Given the description of an element on the screen output the (x, y) to click on. 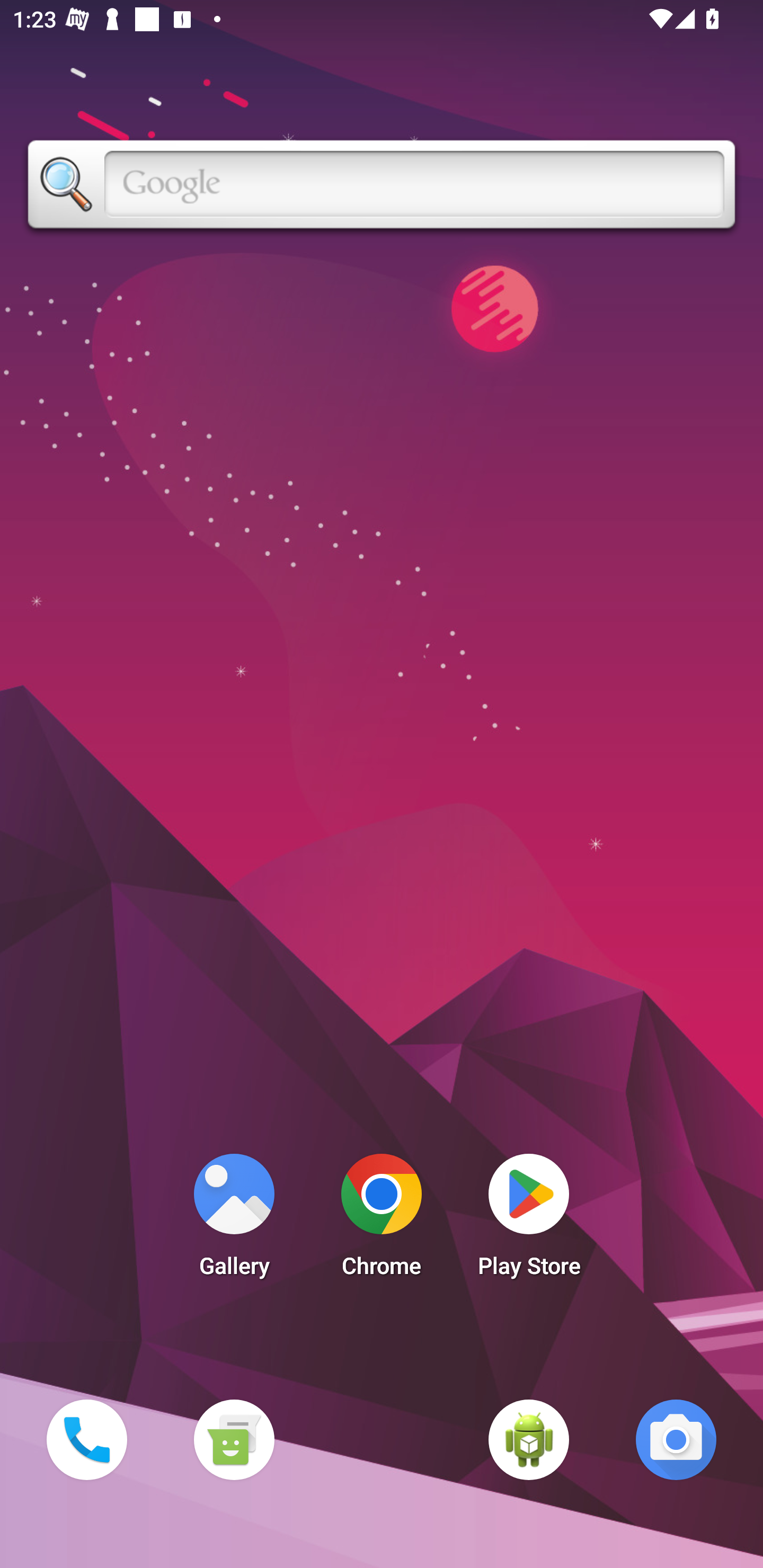
Gallery (233, 1220)
Chrome (381, 1220)
Play Store (528, 1220)
Phone (86, 1439)
Messaging (233, 1439)
WebView Browser Tester (528, 1439)
Camera (676, 1439)
